Given the description of an element on the screen output the (x, y) to click on. 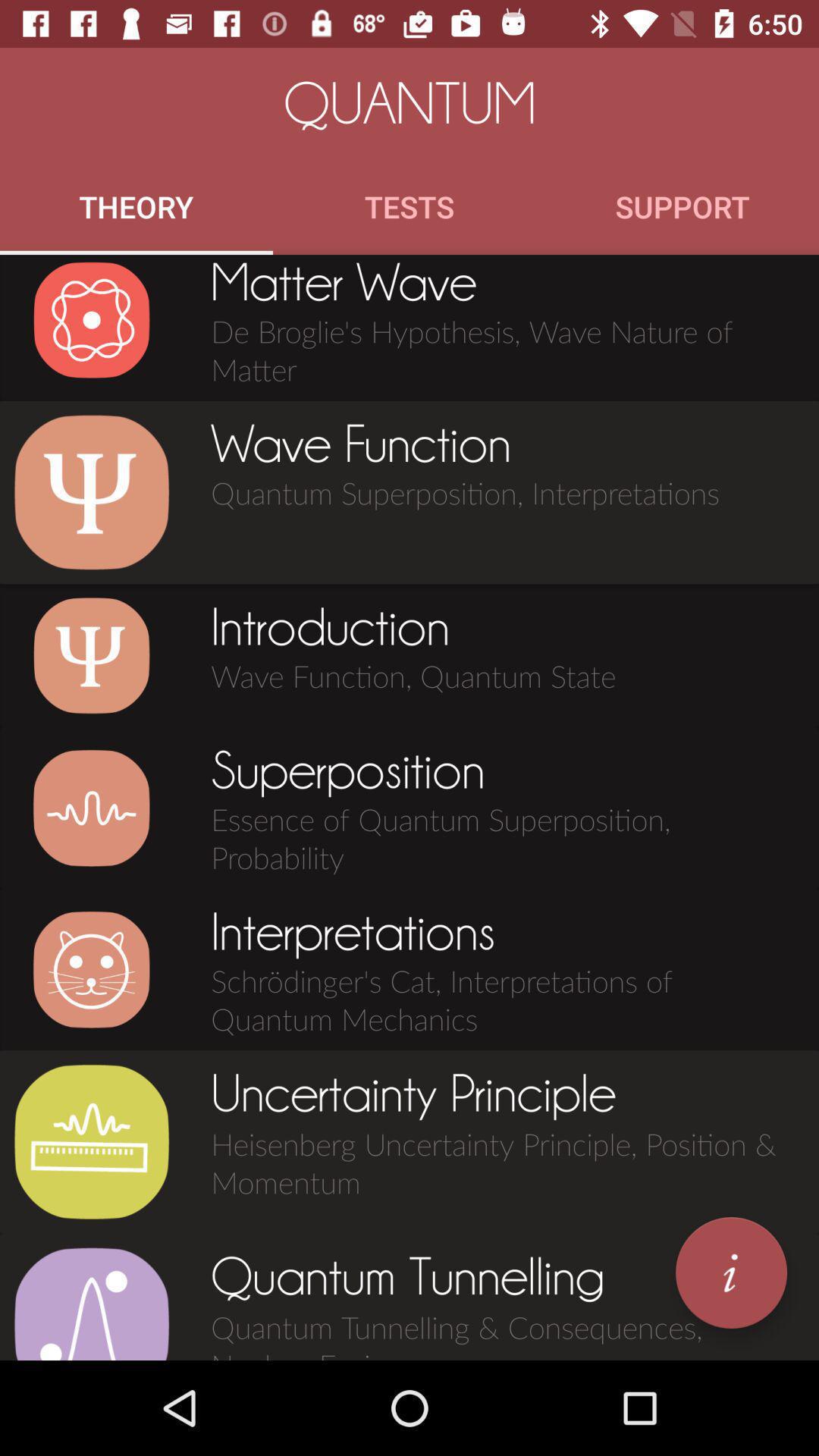
switch autoplay options (91, 807)
